Given the description of an element on the screen output the (x, y) to click on. 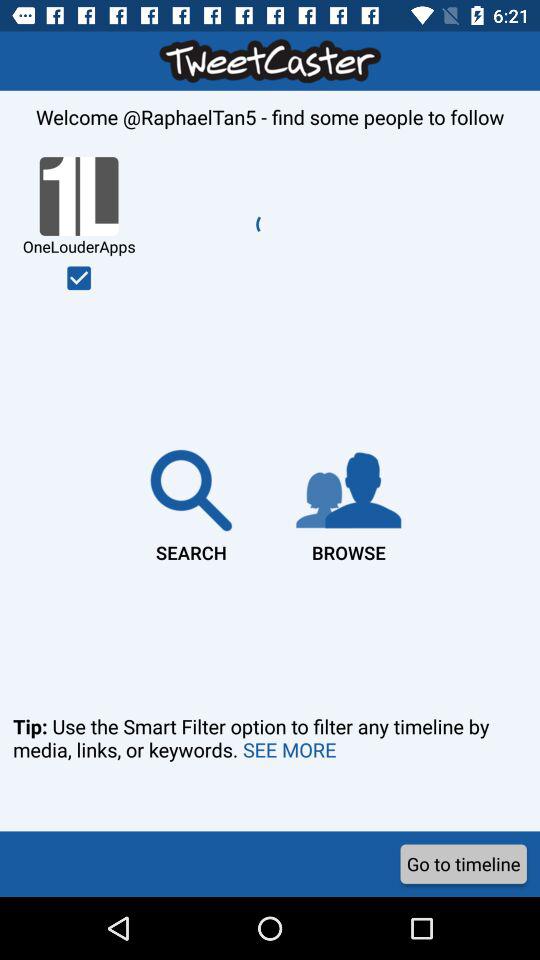
turn on the tip use the item (269, 765)
